Given the description of an element on the screen output the (x, y) to click on. 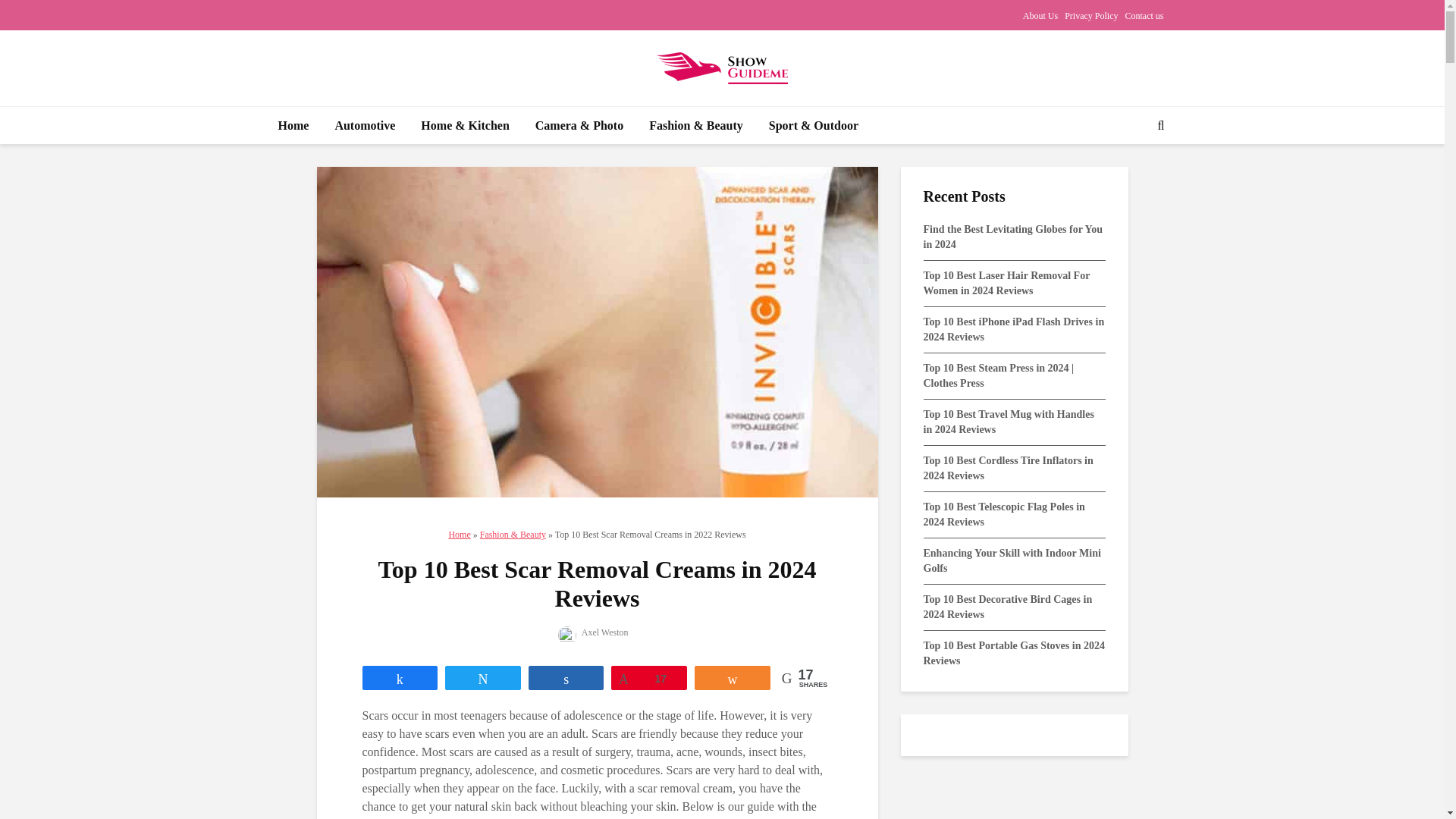
About Us (1040, 15)
Contact us (1144, 15)
Privacy Policy (1091, 15)
Automotive (364, 125)
Home (293, 125)
